Given the description of an element on the screen output the (x, y) to click on. 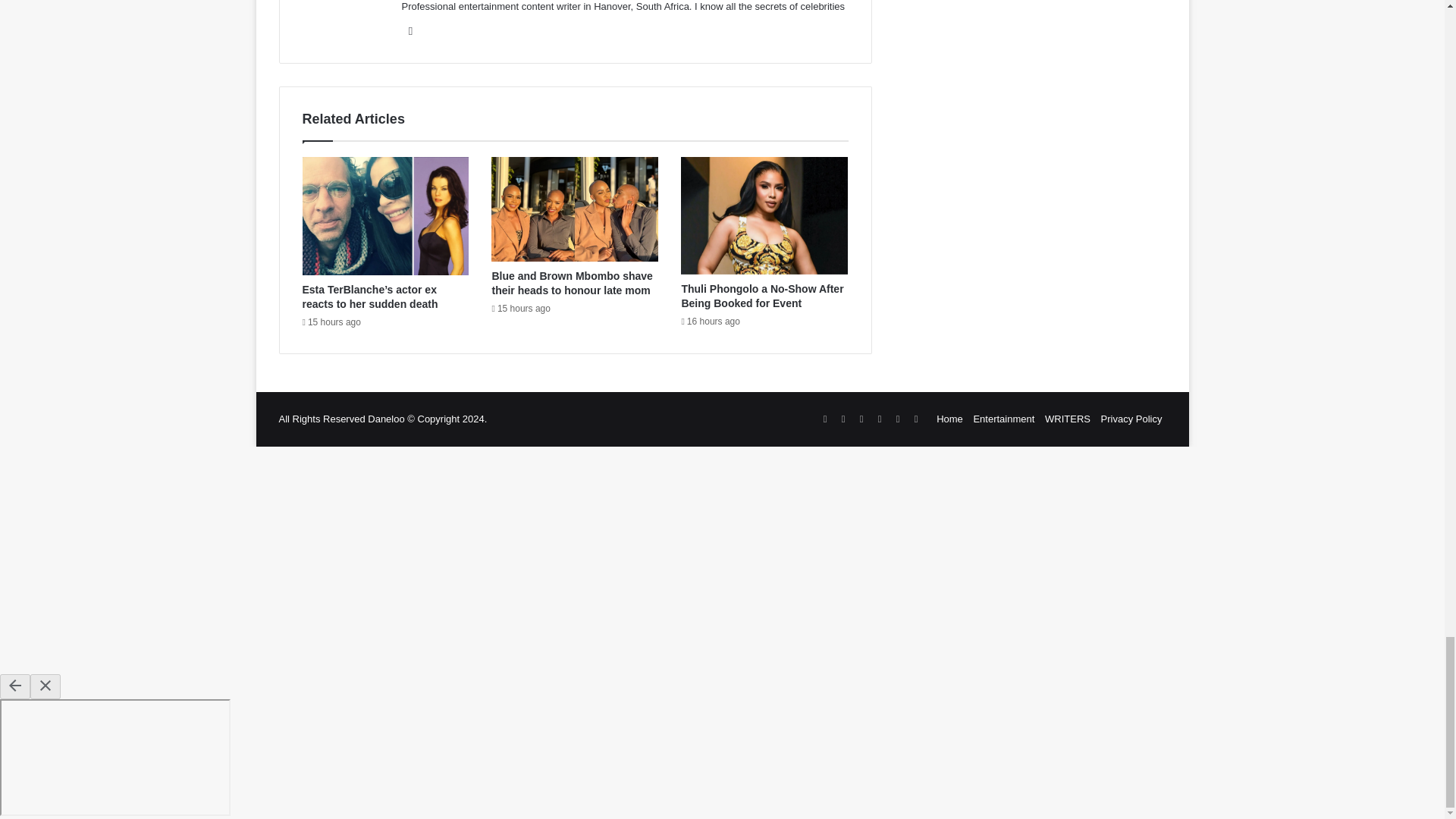
Facebook (410, 31)
Thuli Phongolo a No-Show After Being Booked for Event (762, 295)
Blue and Brown Mbombo shave their heads to honour late mom (572, 283)
